Given the description of an element on the screen output the (x, y) to click on. 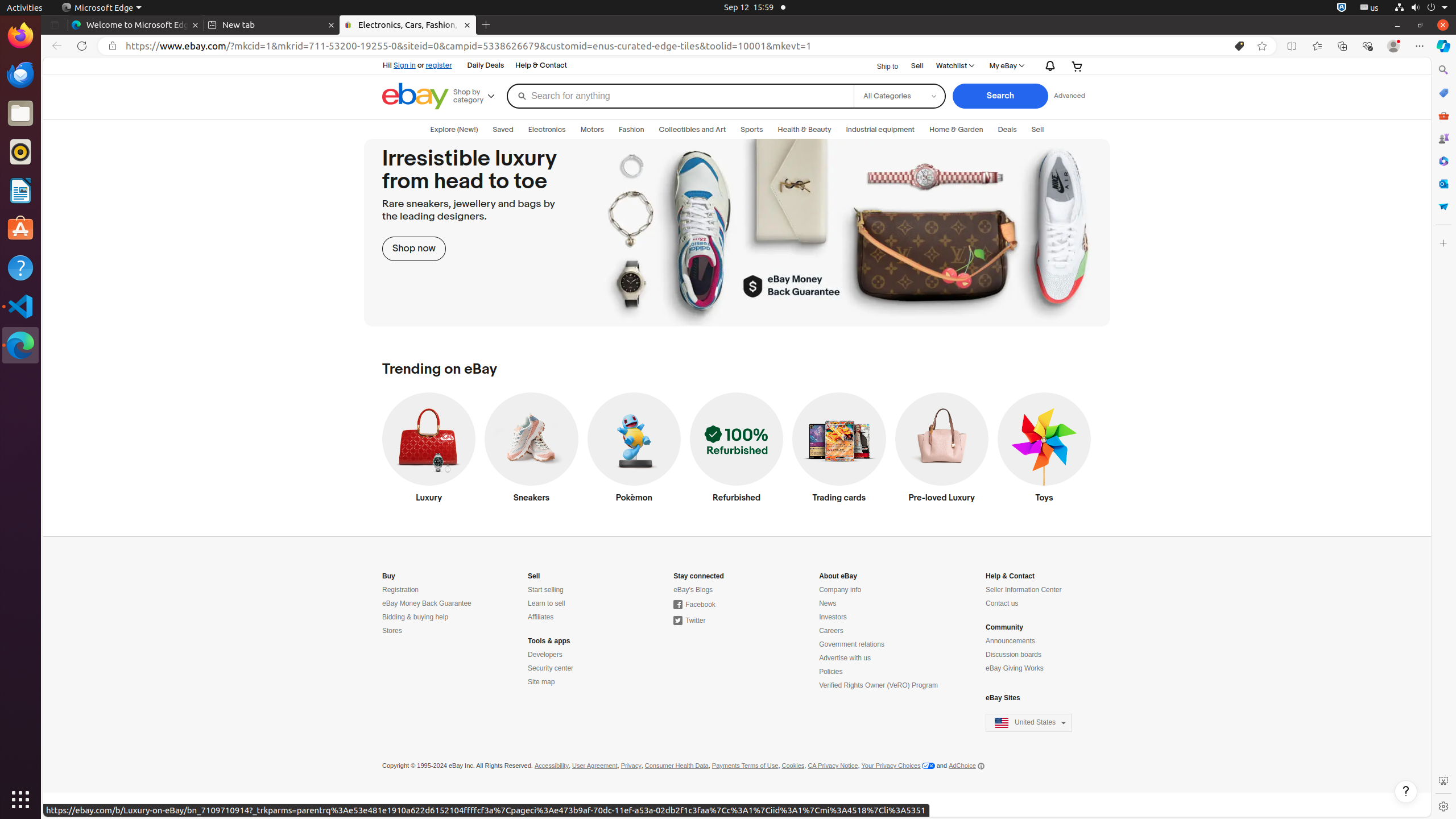
My eBay Element type: link (1005, 65)
Files Element type: push-button (20, 113)
Games Element type: push-button (1443, 137)
Help, opens dialogs Element type: push-button (1405, 791)
Your shopping cart Element type: link (1077, 65)
